Given the description of an element on the screen output the (x, y) to click on. 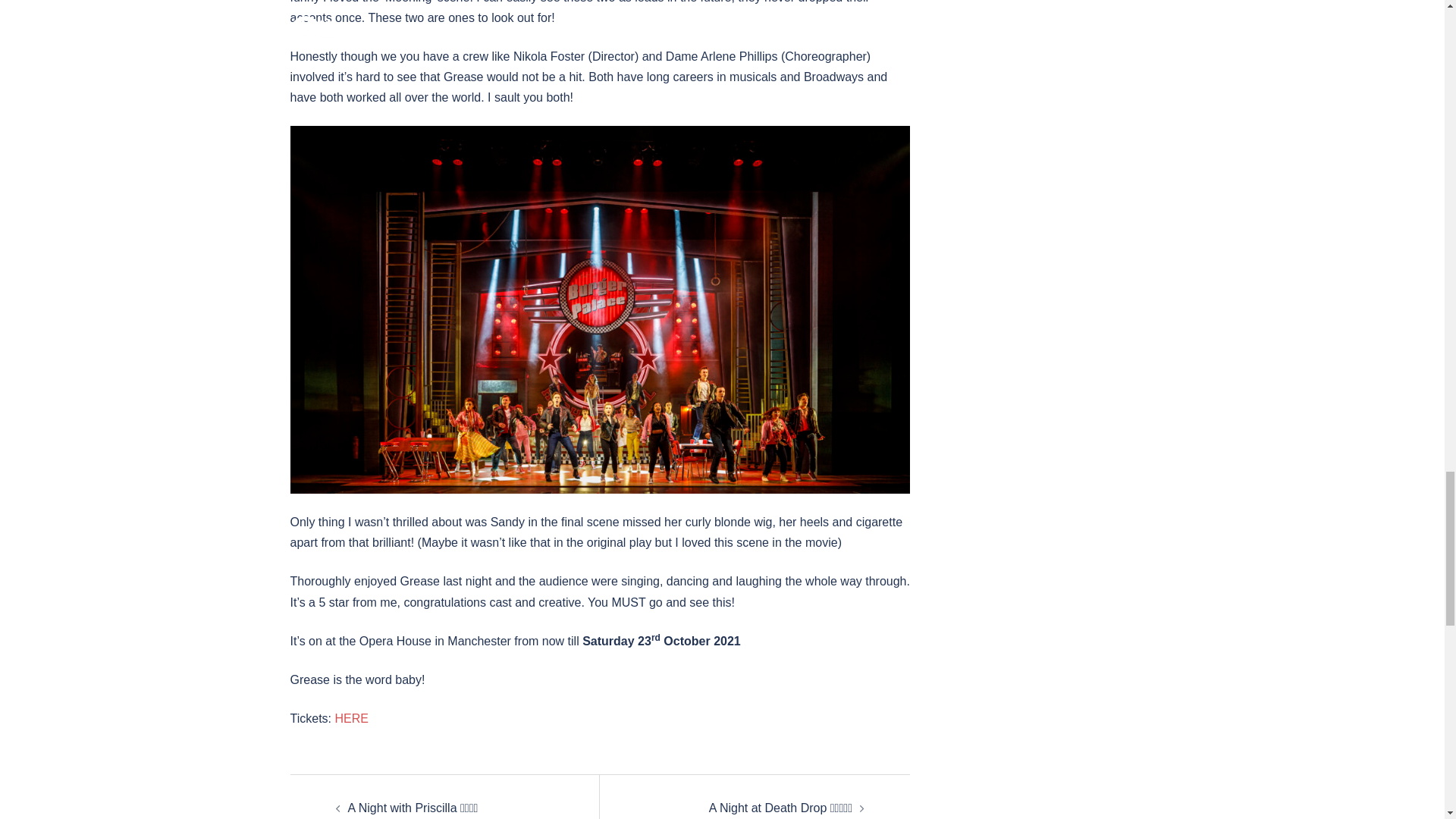
HERE (351, 717)
